Given the description of an element on the screen output the (x, y) to click on. 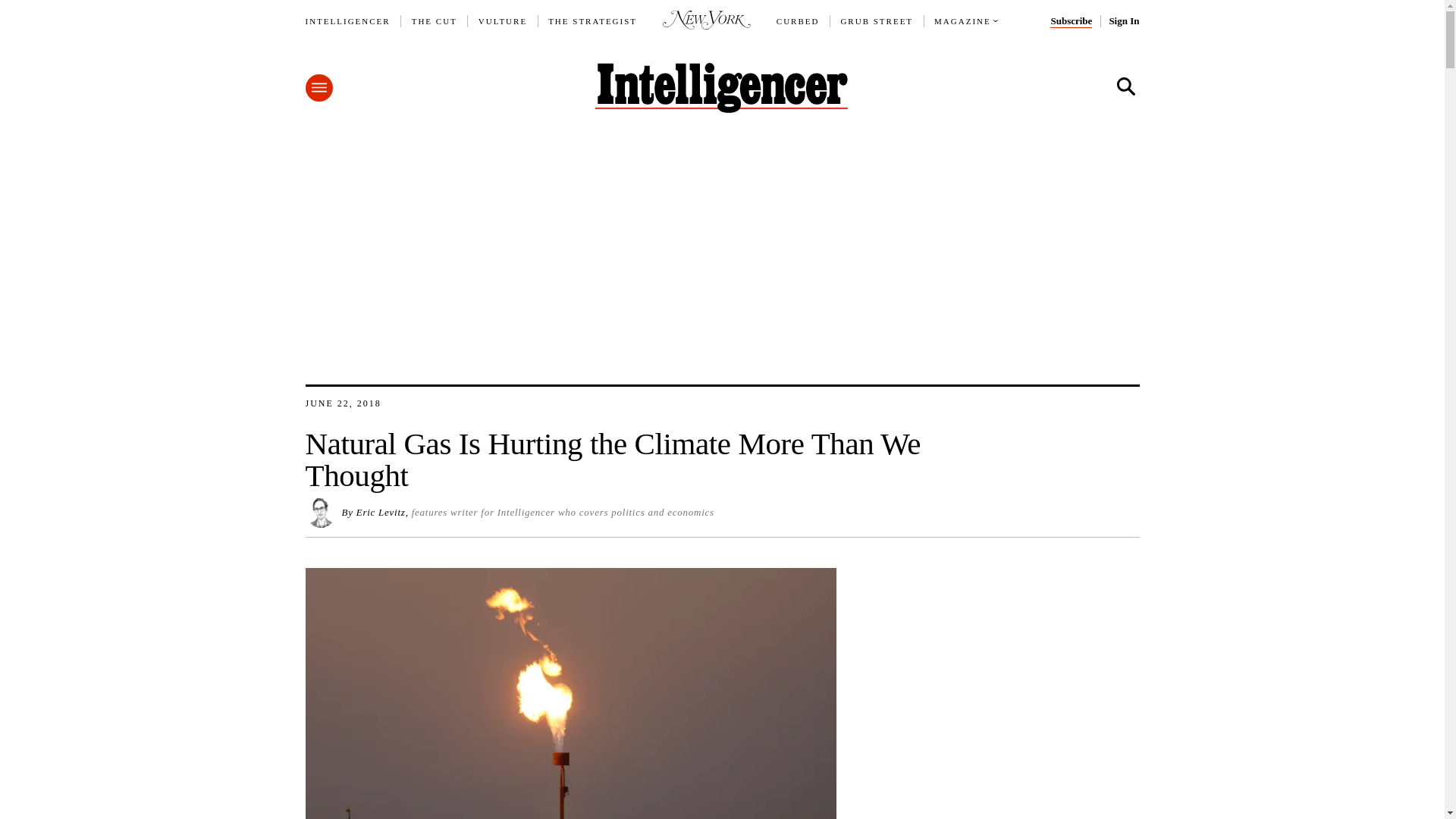
GRUB STREET (876, 21)
CURBED (797, 21)
Sign In (1123, 21)
THE CUT (434, 21)
Search (1124, 86)
Subscribe (1070, 21)
VULTURE (503, 21)
Search (1124, 86)
MAGAZINE (962, 21)
Menu (317, 87)
